Given the description of an element on the screen output the (x, y) to click on. 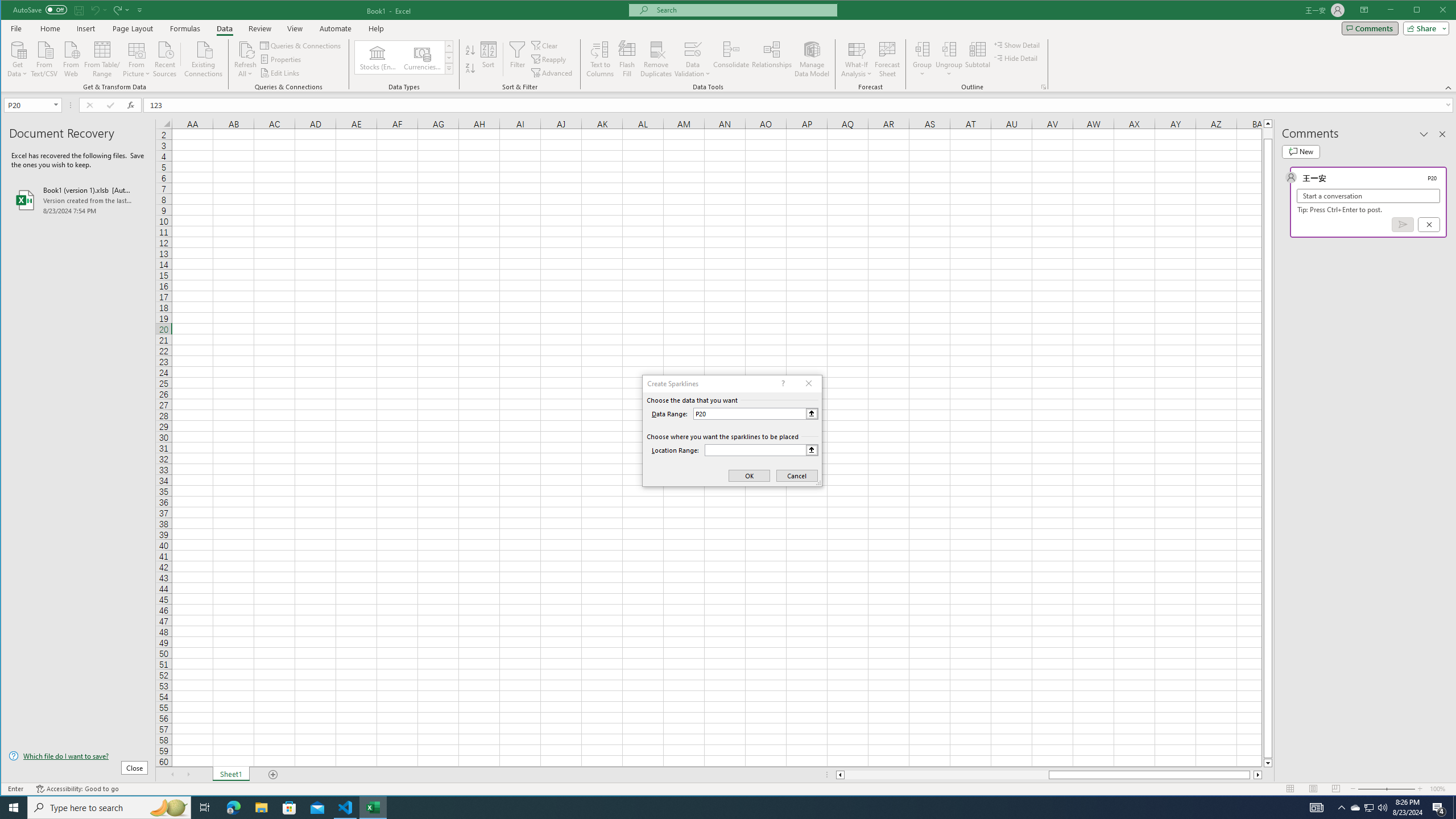
Post comment (Ctrl + Enter) (1402, 224)
